Given the description of an element on the screen output the (x, y) to click on. 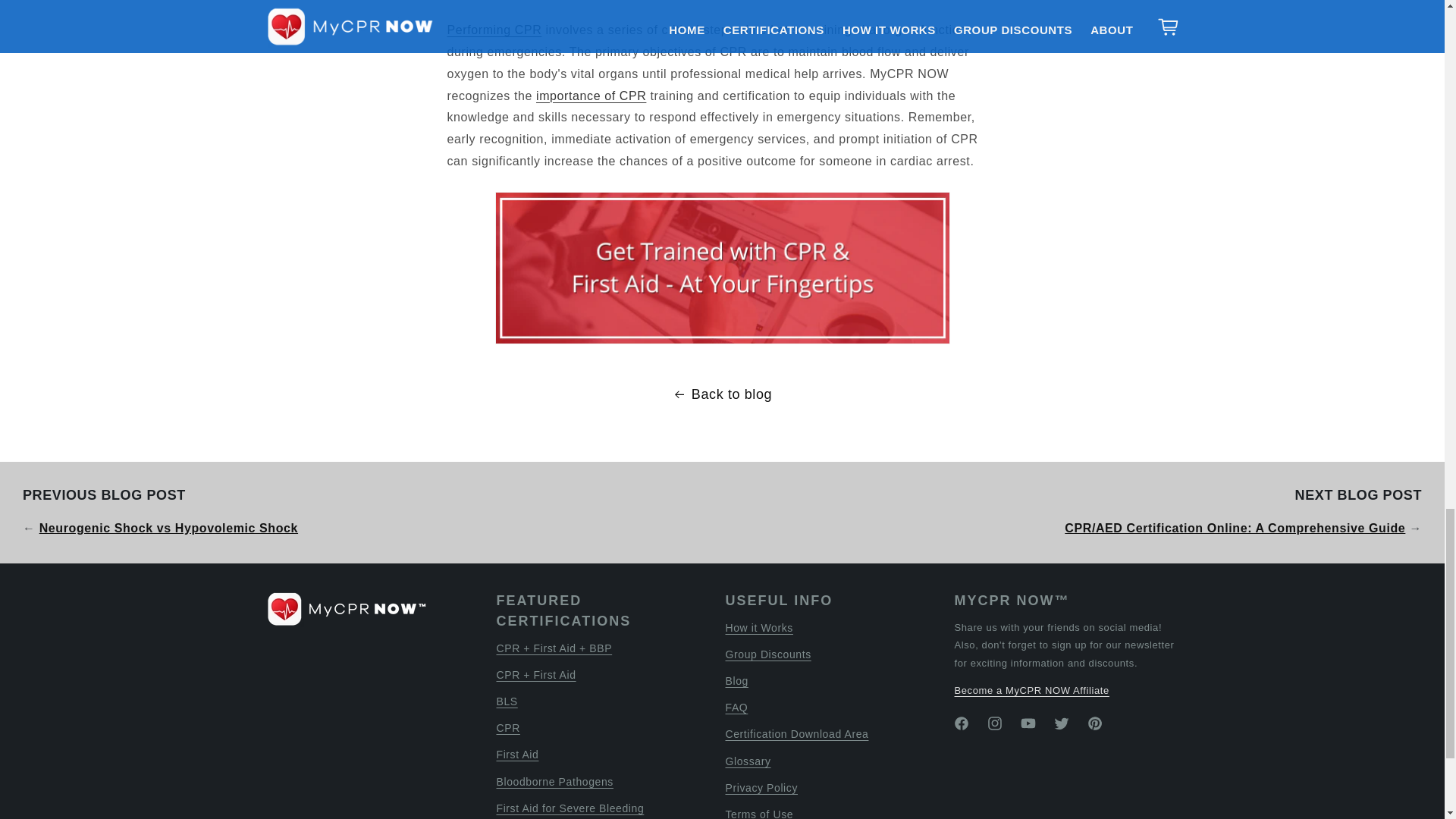
CPR Certification (721, 267)
The Importance of CPR in First Aid  (590, 95)
importance of CPR (590, 95)
CPR Certification (493, 29)
Performing CPR (493, 29)
